Given the description of an element on the screen output the (x, y) to click on. 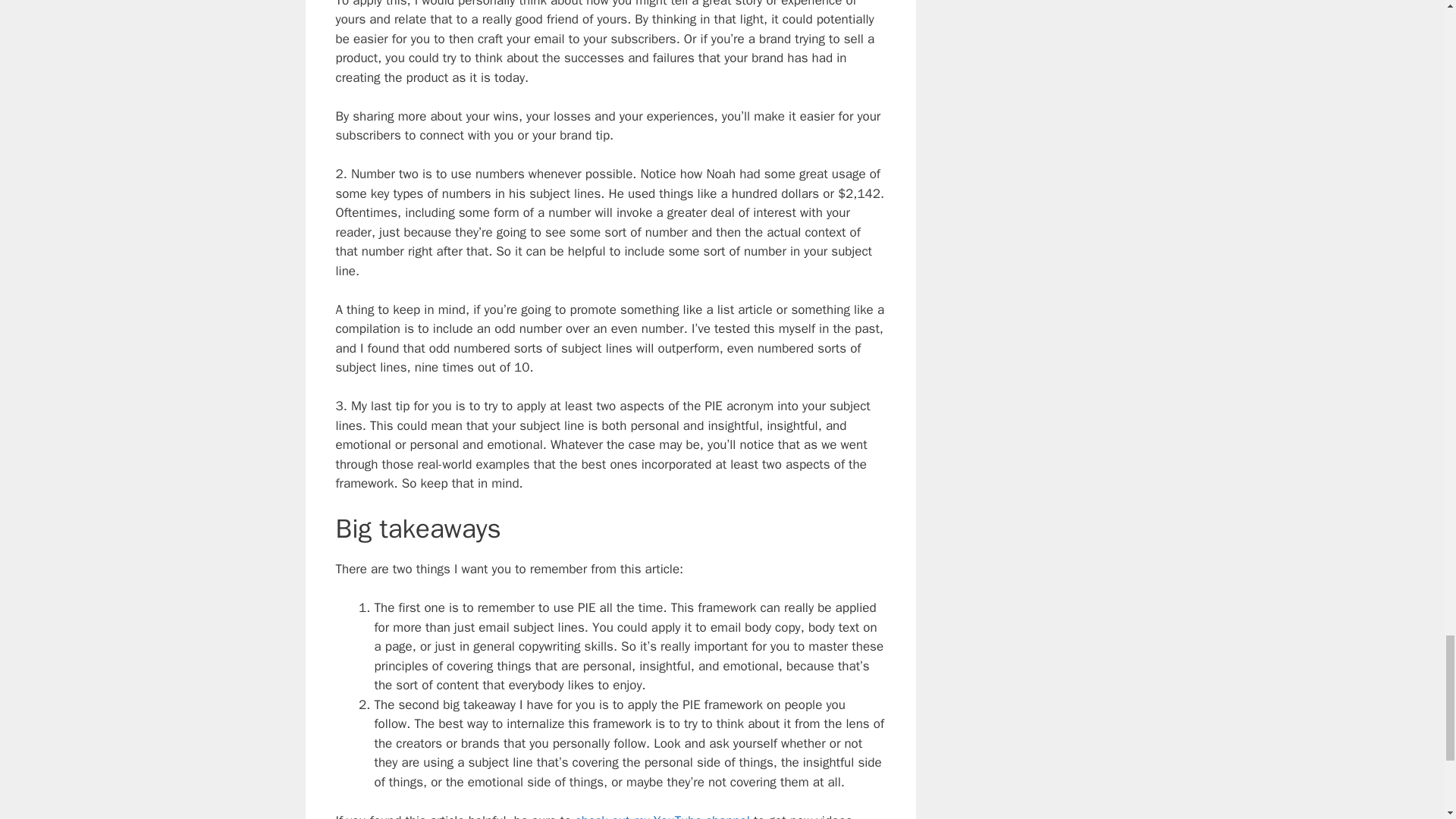
check out my YouTube channel (662, 816)
